Given the description of an element on the screen output the (x, y) to click on. 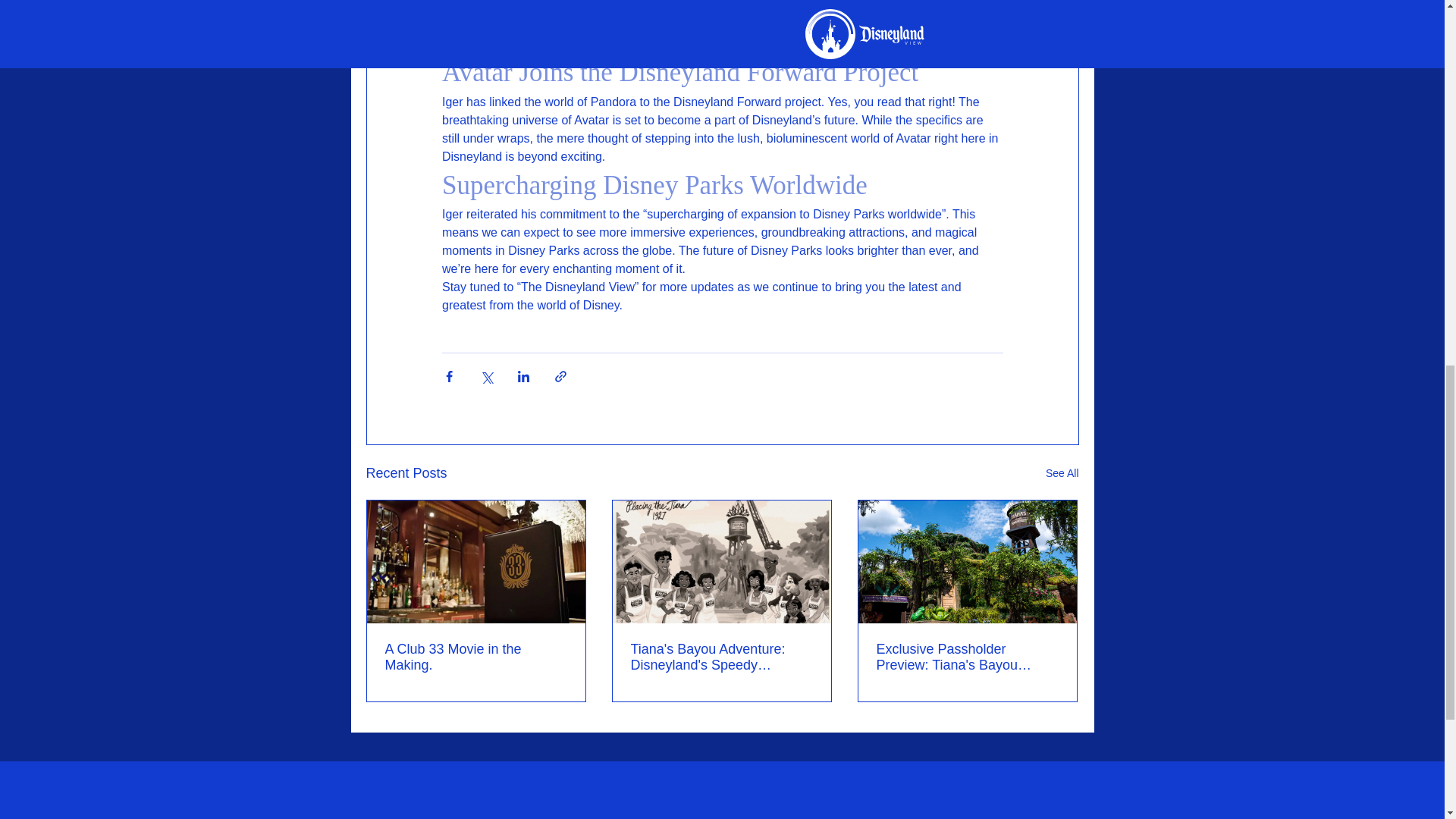
A Club 33 Movie in the Making. (476, 657)
See All (1061, 473)
